Given the description of an element on the screen output the (x, y) to click on. 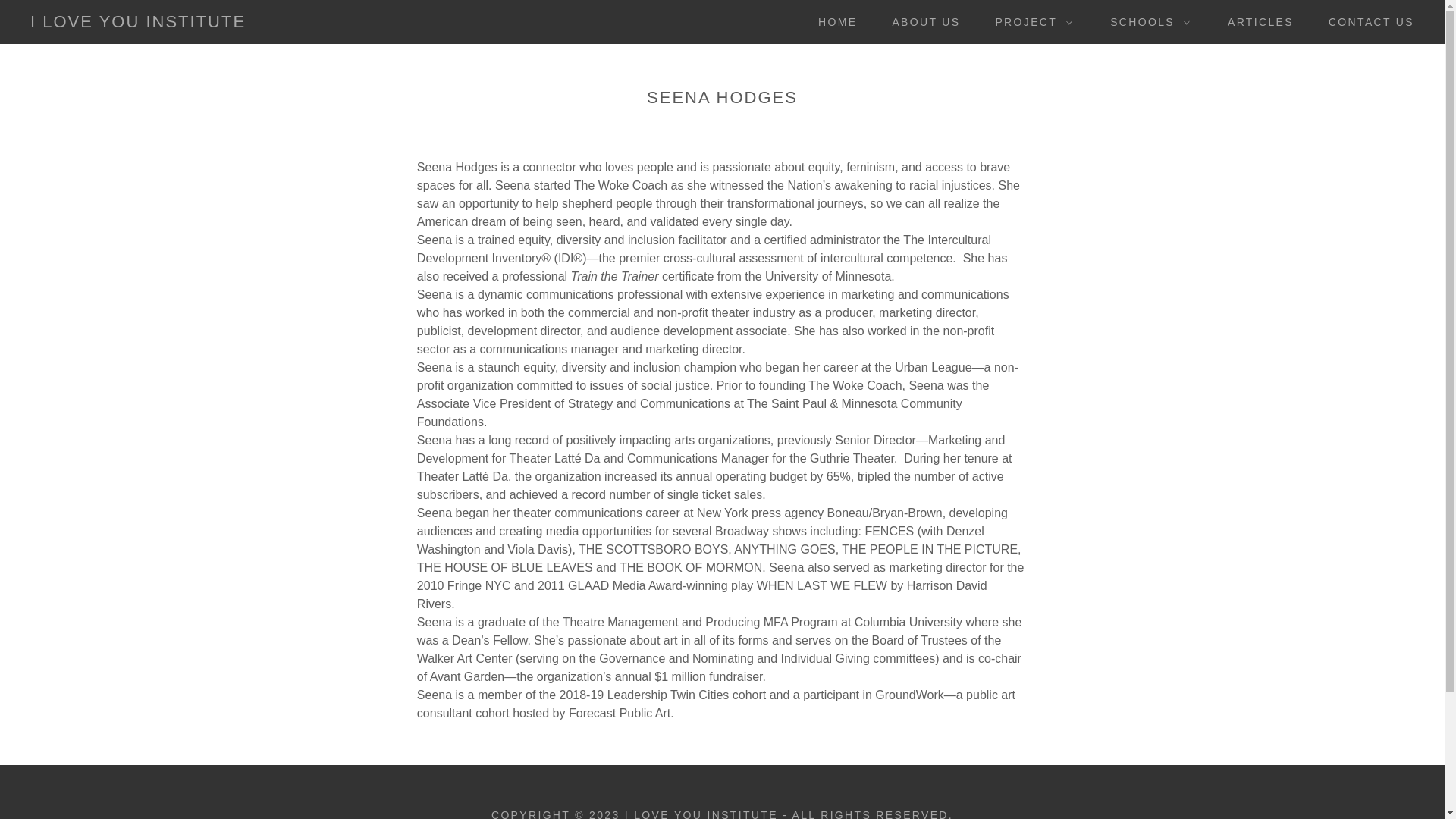
SCHOOLS (1145, 22)
ARTICLES (1255, 22)
ABOUT US (919, 22)
I LOVE YOU INSTITUTE (138, 22)
I love you Institute (138, 22)
PROJECT (1029, 22)
HOME (832, 22)
CONTACT US (1365, 22)
